Given the description of an element on the screen output the (x, y) to click on. 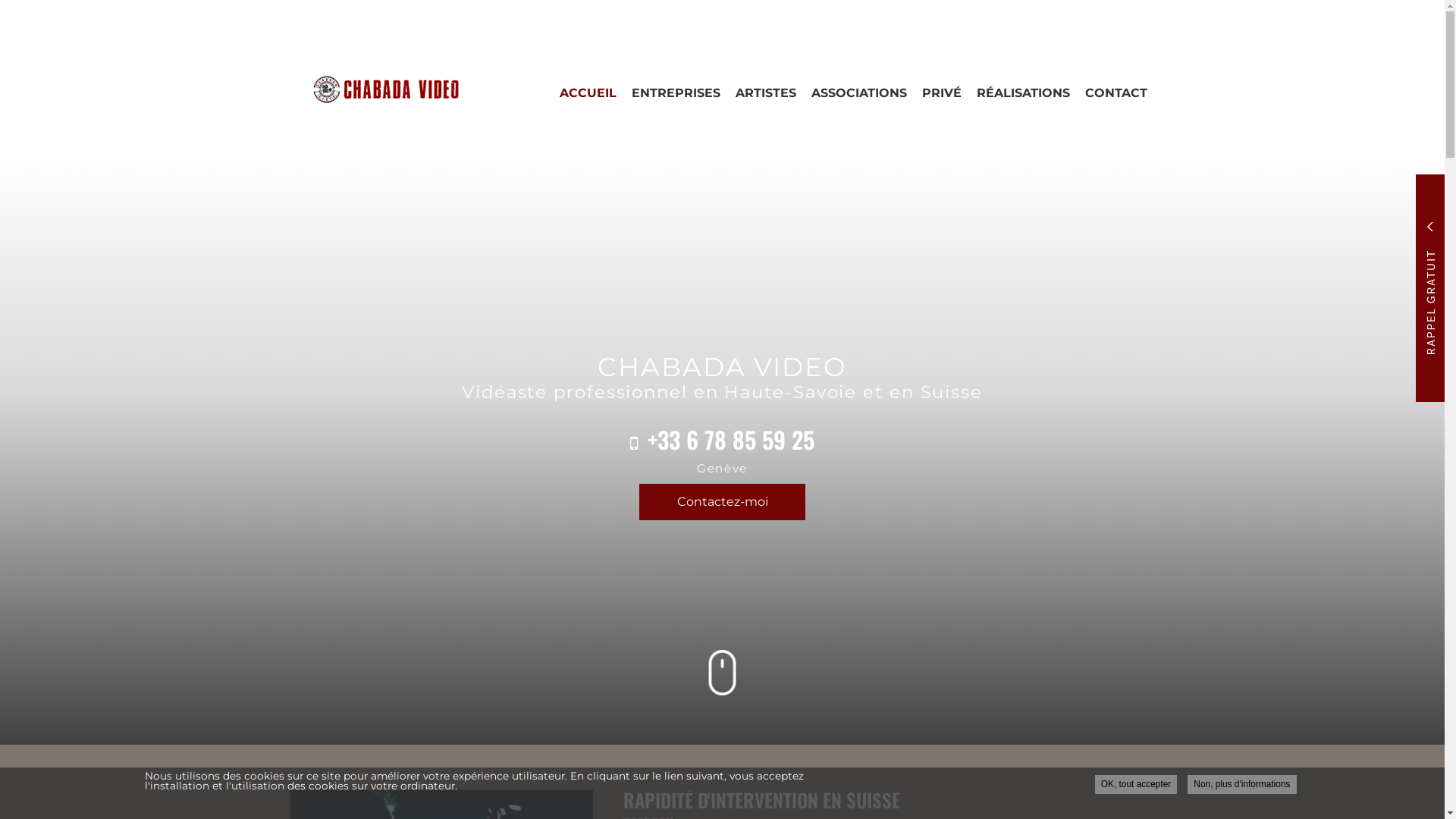
Aller au contenu principal Element type: text (0, 159)
CONTACT Element type: text (1115, 92)
ASSOCIATIONS Element type: text (858, 92)
ENTREPRISES Element type: text (675, 92)
ARTISTES Element type: text (765, 92)
+33 6 78 85 59 25 Element type: text (730, 439)
Accueil Element type: hover (373, 89)
OK, tout accepter Element type: text (1136, 784)
Non, plus d'informations Element type: text (1241, 784)
ACCUEIL Element type: text (588, 92)
Contactez-moi Element type: text (721, 501)
